Given the description of an element on the screen output the (x, y) to click on. 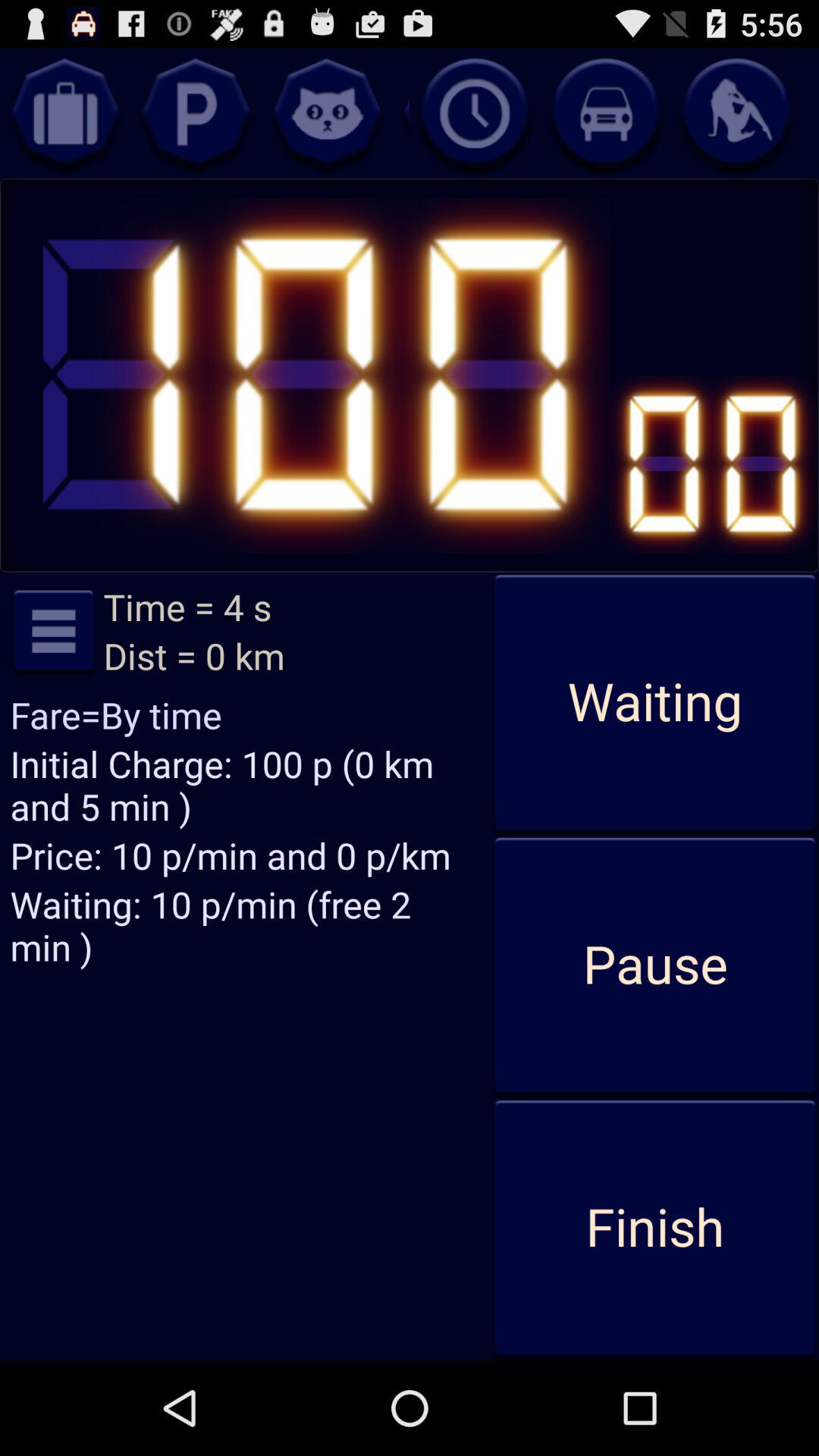
driving (605, 112)
